Given the description of an element on the screen output the (x, y) to click on. 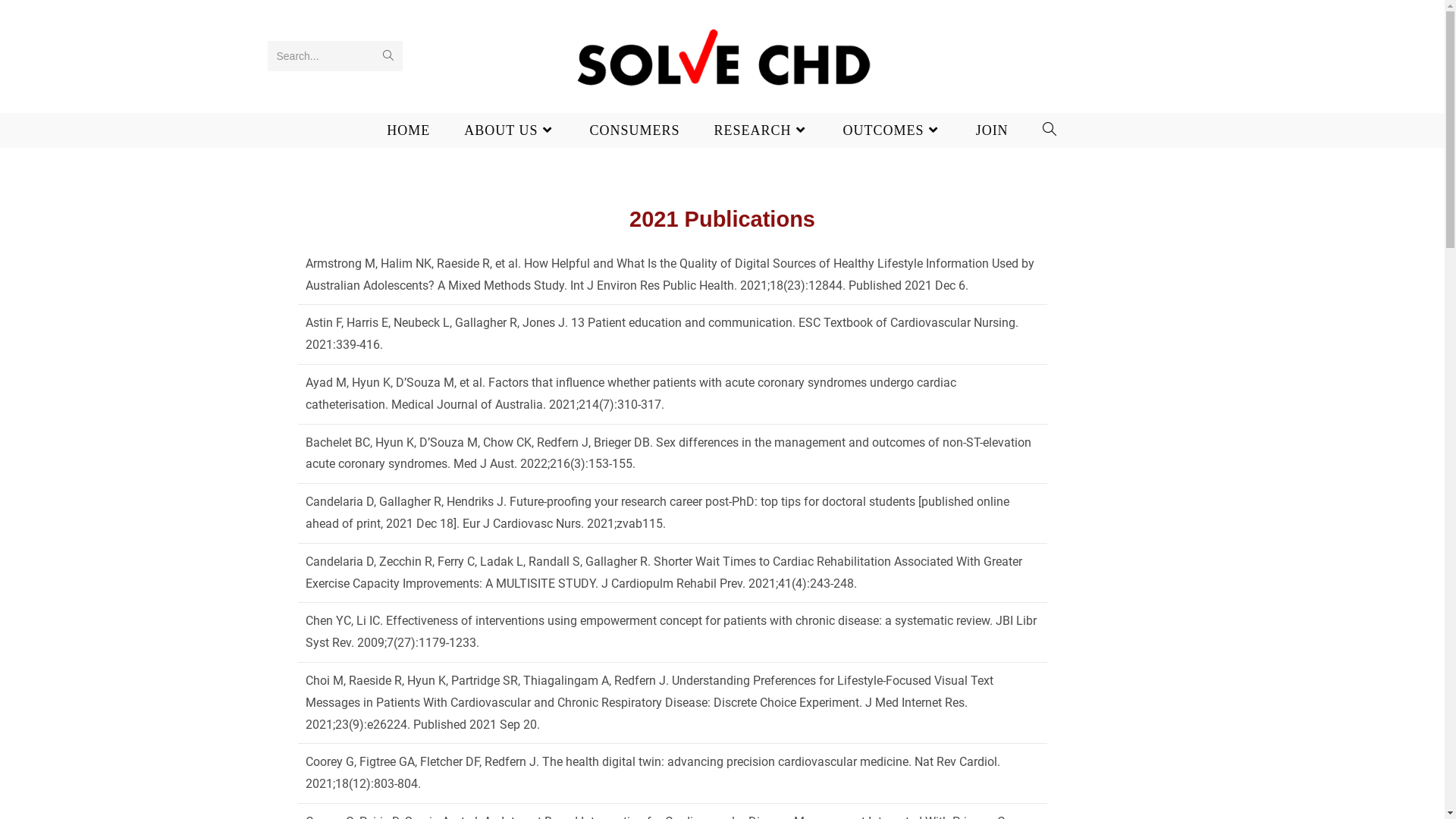
ABOUT US Element type: text (509, 129)
CONSUMERS Element type: text (635, 129)
RESEARCH Element type: text (761, 129)
OUTCOMES Element type: text (892, 129)
HOME Element type: text (408, 129)
JOIN Element type: text (992, 129)
